Given the description of an element on the screen output the (x, y) to click on. 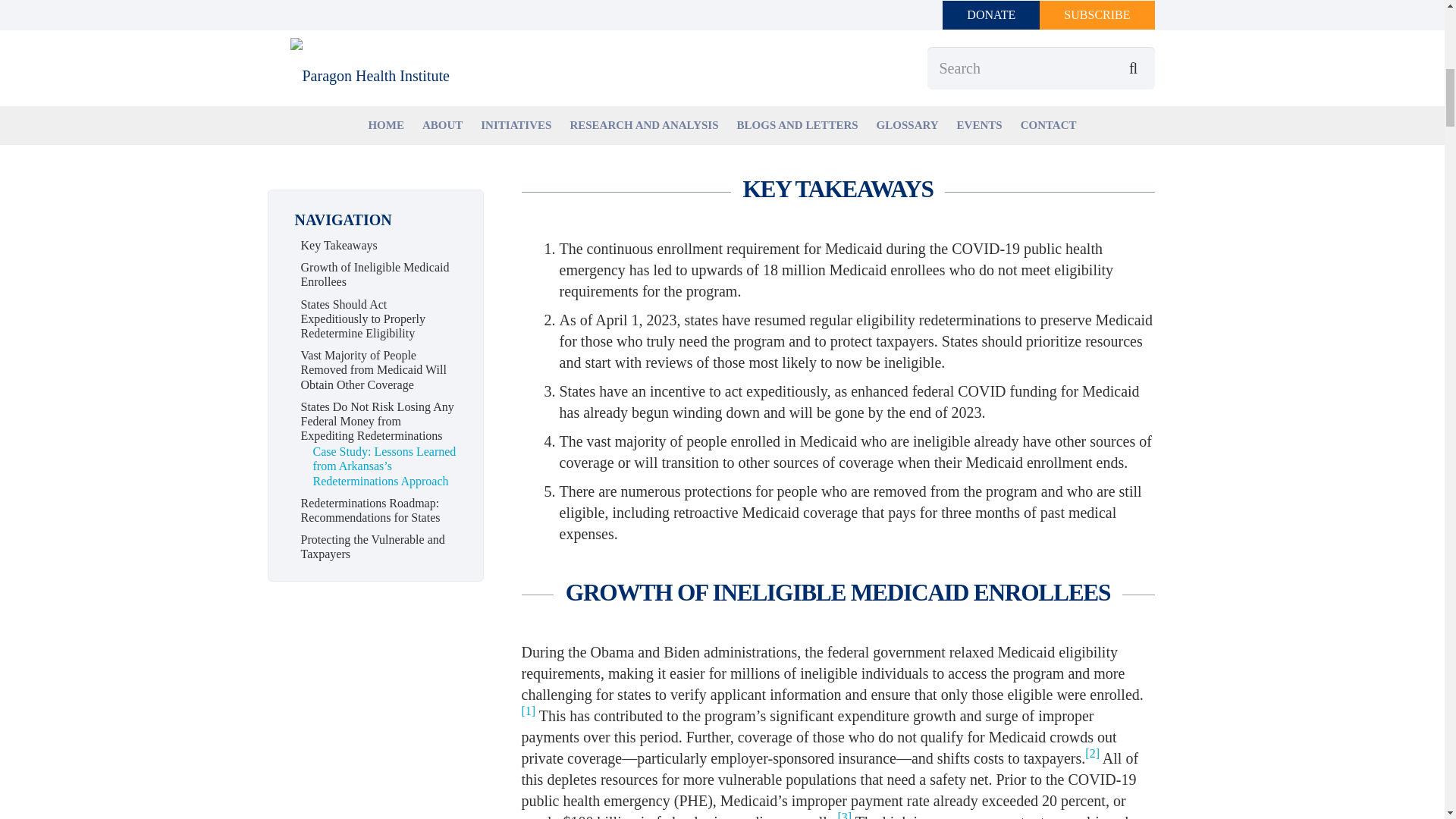
2 (1091, 753)
3 (844, 815)
1 (528, 710)
